Given the description of an element on the screen output the (x, y) to click on. 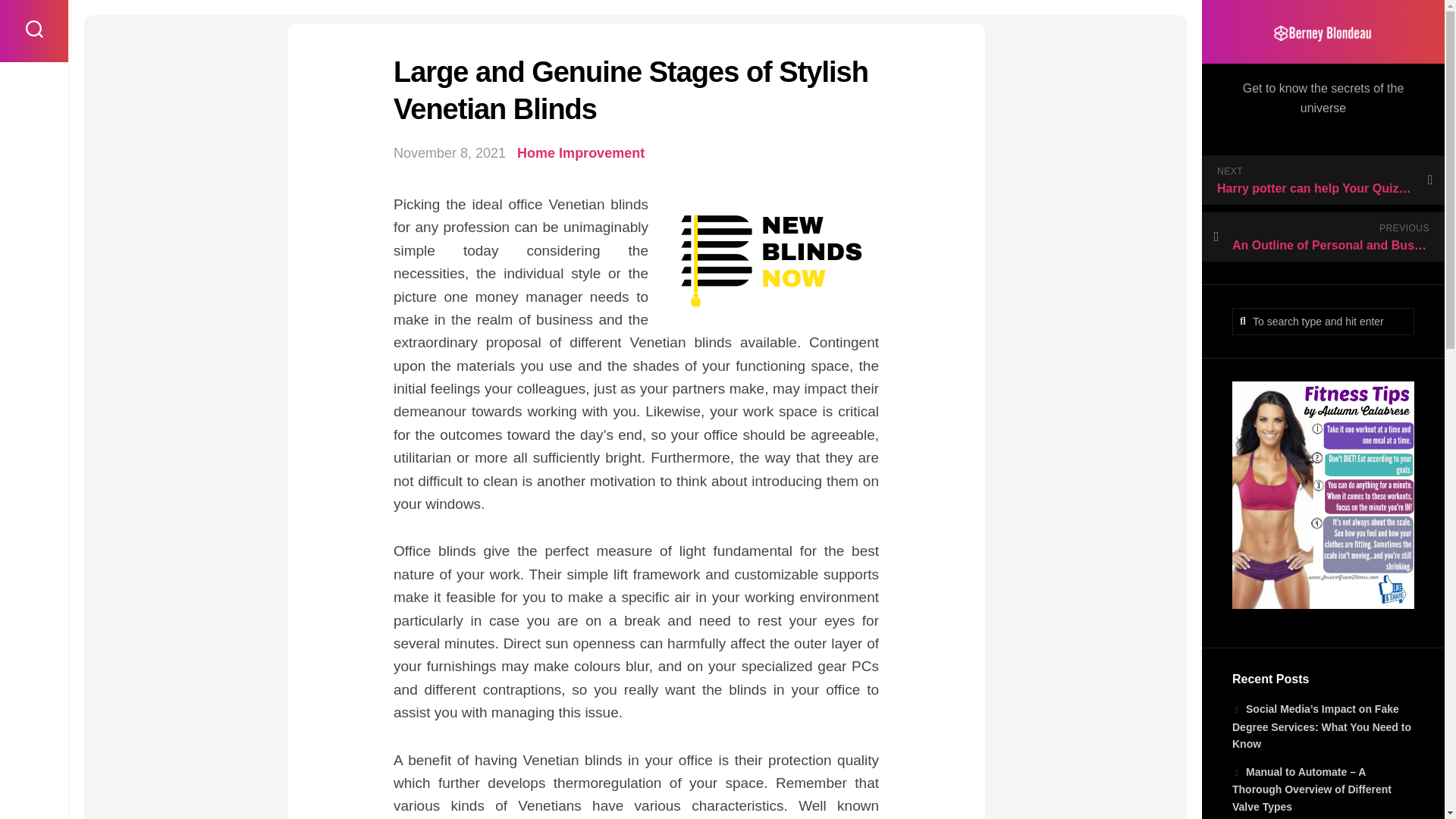
To search type and hit enter (1322, 320)
Home Improvement (580, 152)
To search type and hit enter (1322, 320)
